Given the description of an element on the screen output the (x, y) to click on. 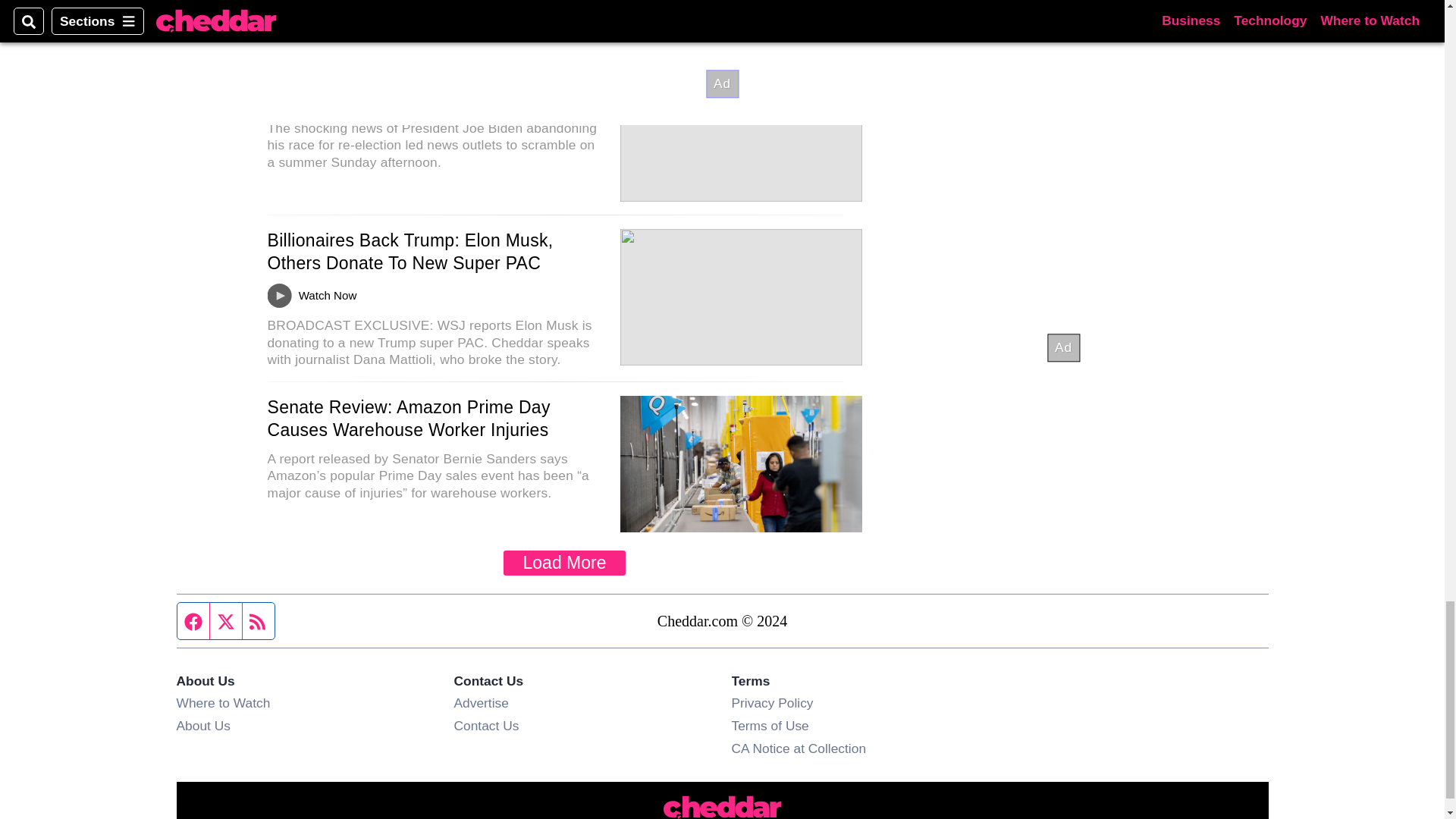
Load More (564, 562)
